Given the description of an element on the screen output the (x, y) to click on. 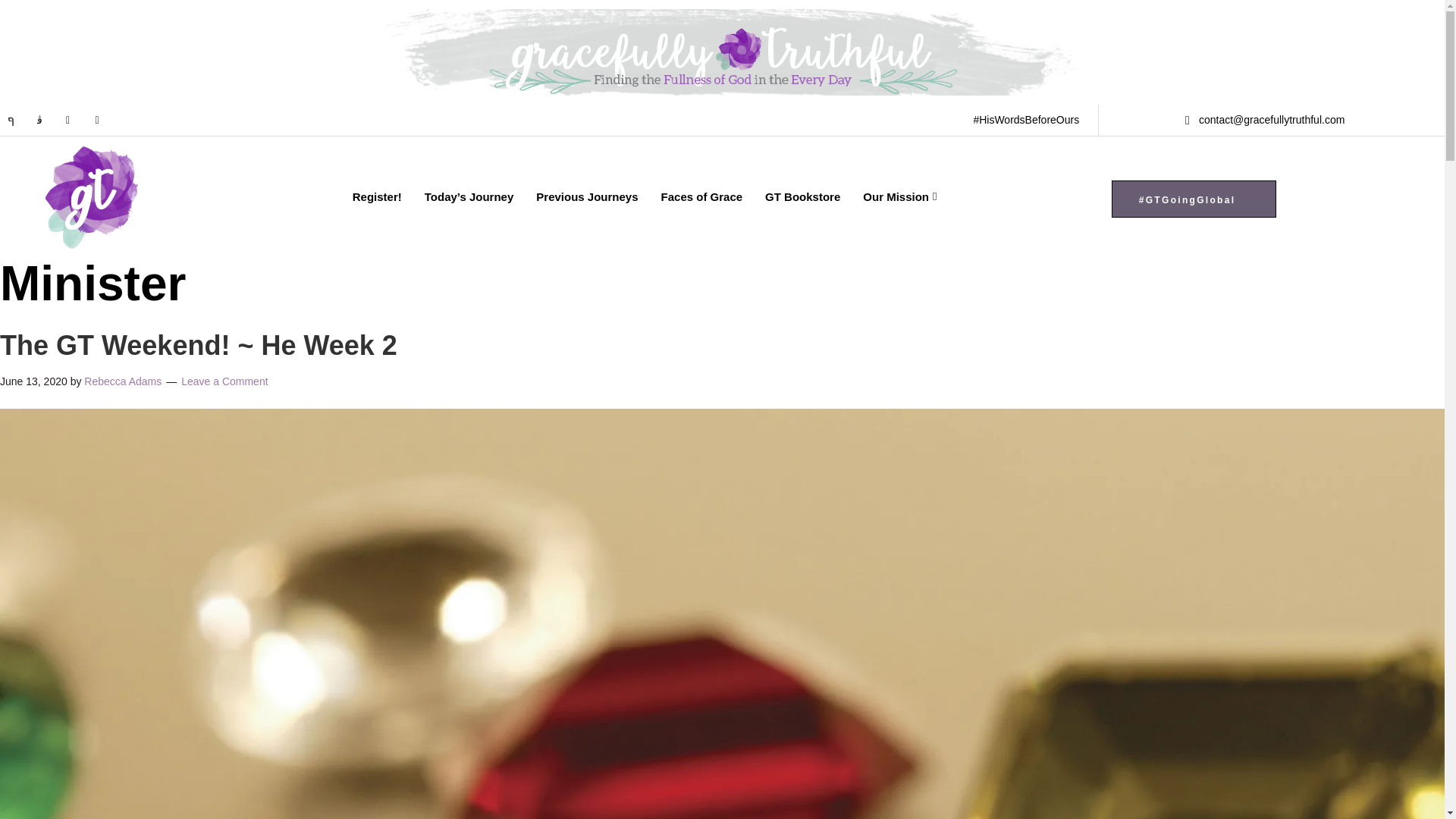
Previous Journeys (586, 196)
Leave a Comment (223, 381)
Register! (376, 196)
Posts by Rebecca Adams (122, 381)
Our Mission (899, 196)
Rebecca Adams (122, 381)
Faces of Grace (701, 196)
GT Bookstore (802, 196)
Saturday, June 13, 2020, 3:00 am (33, 381)
